Given the description of an element on the screen output the (x, y) to click on. 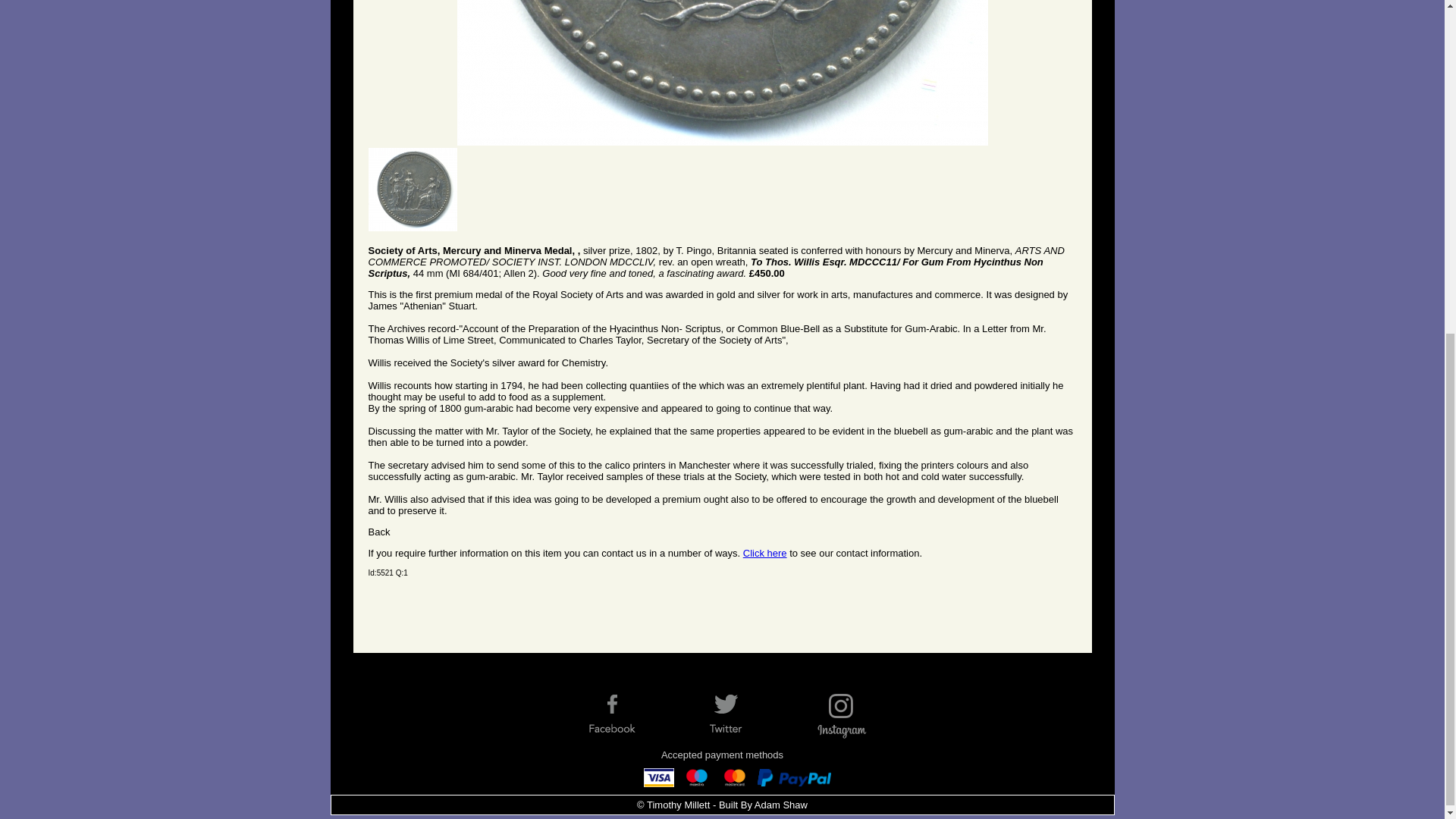
Back (379, 531)
Instagram (851, 713)
Facebook (624, 713)
Click here (764, 552)
Twitter (737, 713)
